Given the description of an element on the screen output the (x, y) to click on. 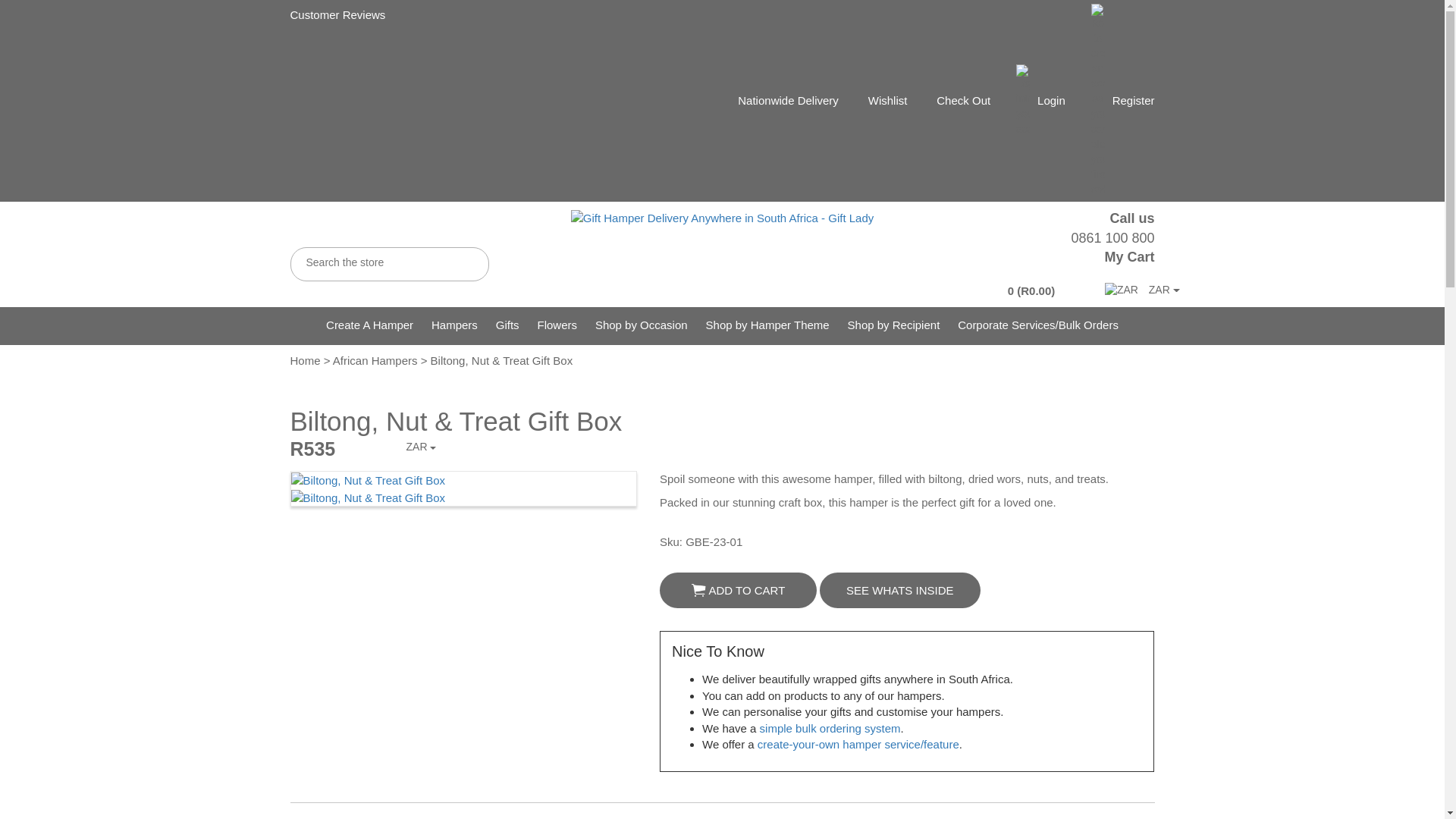
Add to Cart (698, 590)
Wishlist (887, 100)
Gifts (507, 324)
Customer Reviews (337, 14)
Gift Hamper Delivery Anywhere in South Africa - Gift Lady (722, 217)
Flowers (556, 324)
0861 100 800 (1112, 237)
ZAR (1121, 290)
Login (1050, 100)
Check Out (963, 100)
Nationwide Delivery (788, 100)
Hampers (453, 324)
ZAR (1136, 290)
Shop by Occasion (641, 324)
